Given the description of an element on the screen output the (x, y) to click on. 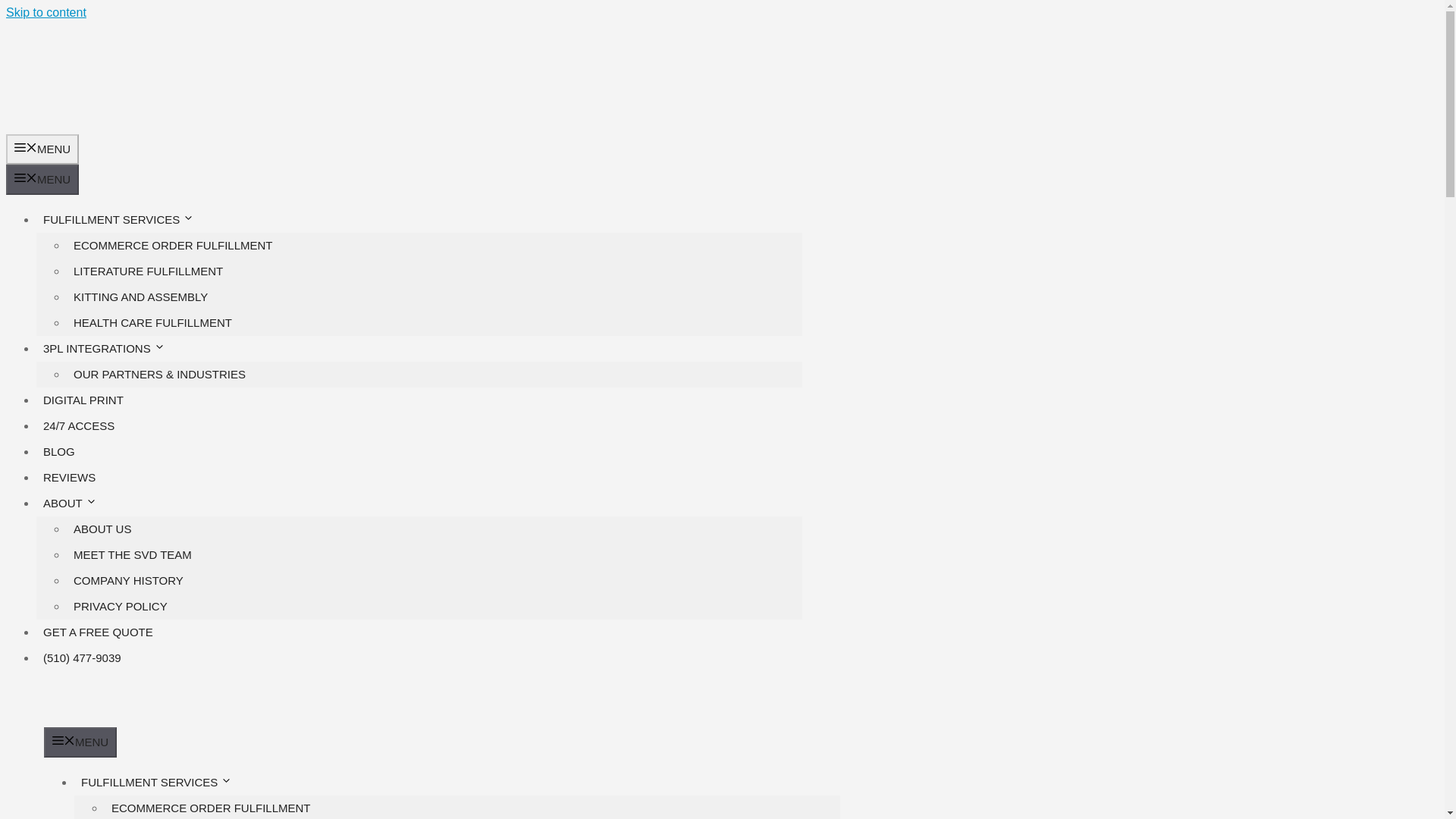
3PL INTEGRATIONS (111, 348)
ABOUT (77, 502)
HEALTH CARE FULFILLMENT (152, 322)
DIGITAL PRINT (83, 399)
FULFILLMENT SERVICES (125, 219)
MEET THE SVD TEAM (132, 554)
ECOMMERCE ORDER FULFILLMENT (172, 244)
KITTING AND ASSEMBLY (140, 296)
MENU (79, 742)
BLOG (58, 451)
MENU (41, 179)
ECOMMERCE ORDER FULFILLMENT (210, 806)
Skip to content (45, 11)
COMPANY HISTORY (128, 580)
PRIVACY POLICY (120, 605)
